Given the description of an element on the screen output the (x, y) to click on. 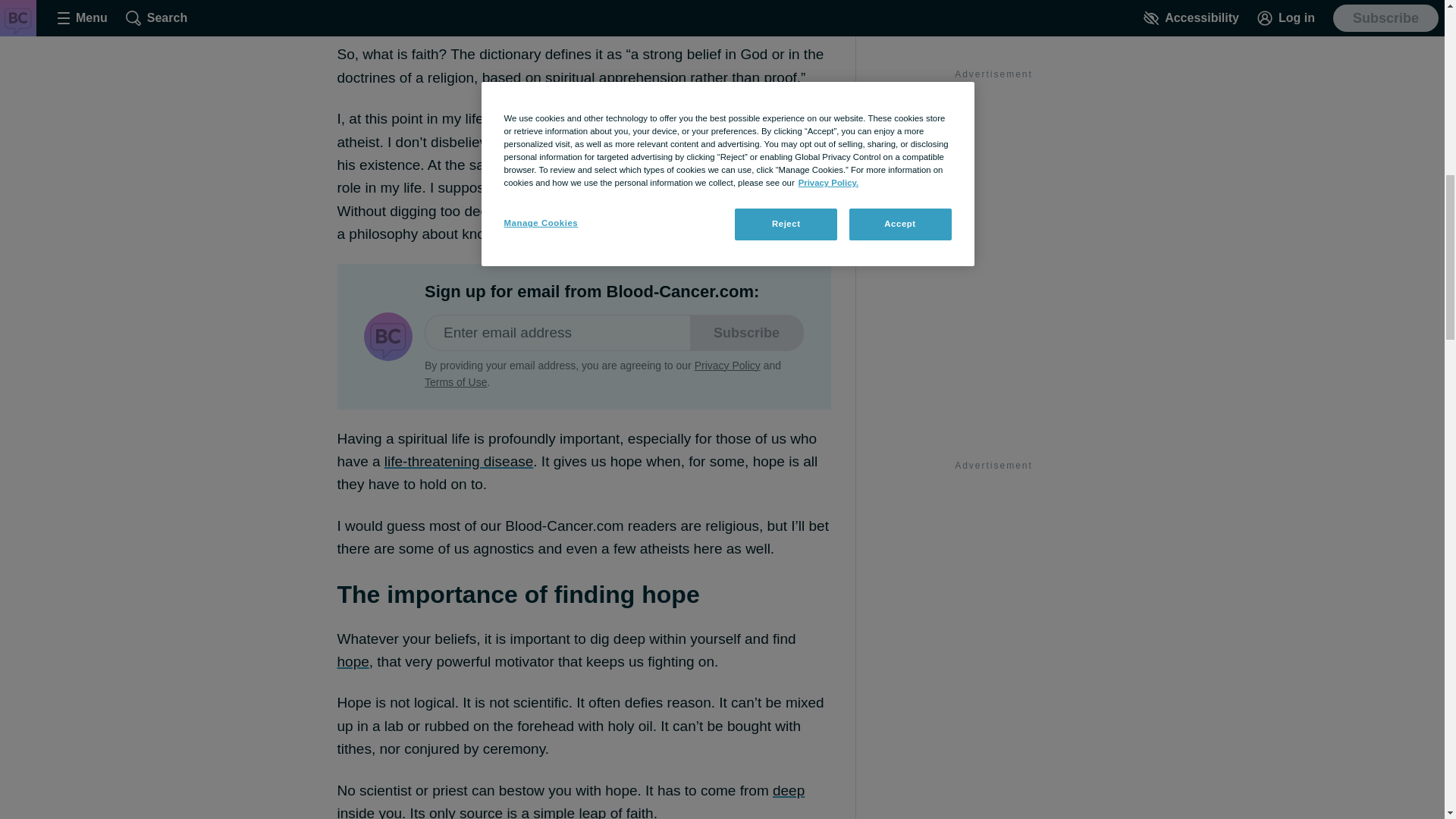
Privacy Policy (727, 365)
Subscribe (746, 332)
3rd party ad content (992, 647)
